Given the description of an element on the screen output the (x, y) to click on. 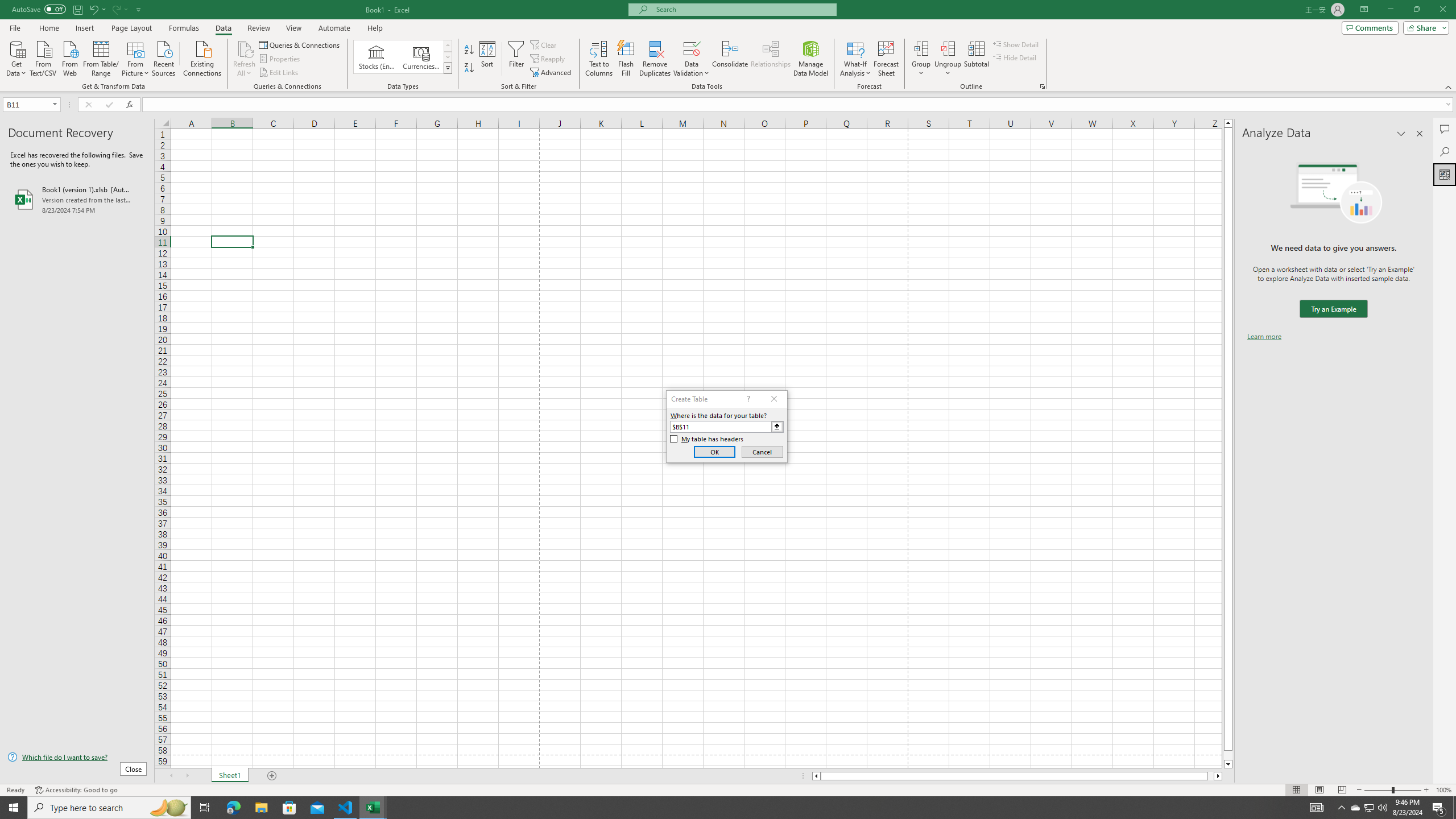
What-If Analysis (855, 58)
AutoSave (38, 9)
Relationships (770, 58)
Show Detail (1016, 44)
Existing Connections (202, 57)
Restore Down (1416, 9)
Ungroup... (947, 48)
From Table/Range (100, 57)
Formula Bar (799, 104)
